Given the description of an element on the screen output the (x, y) to click on. 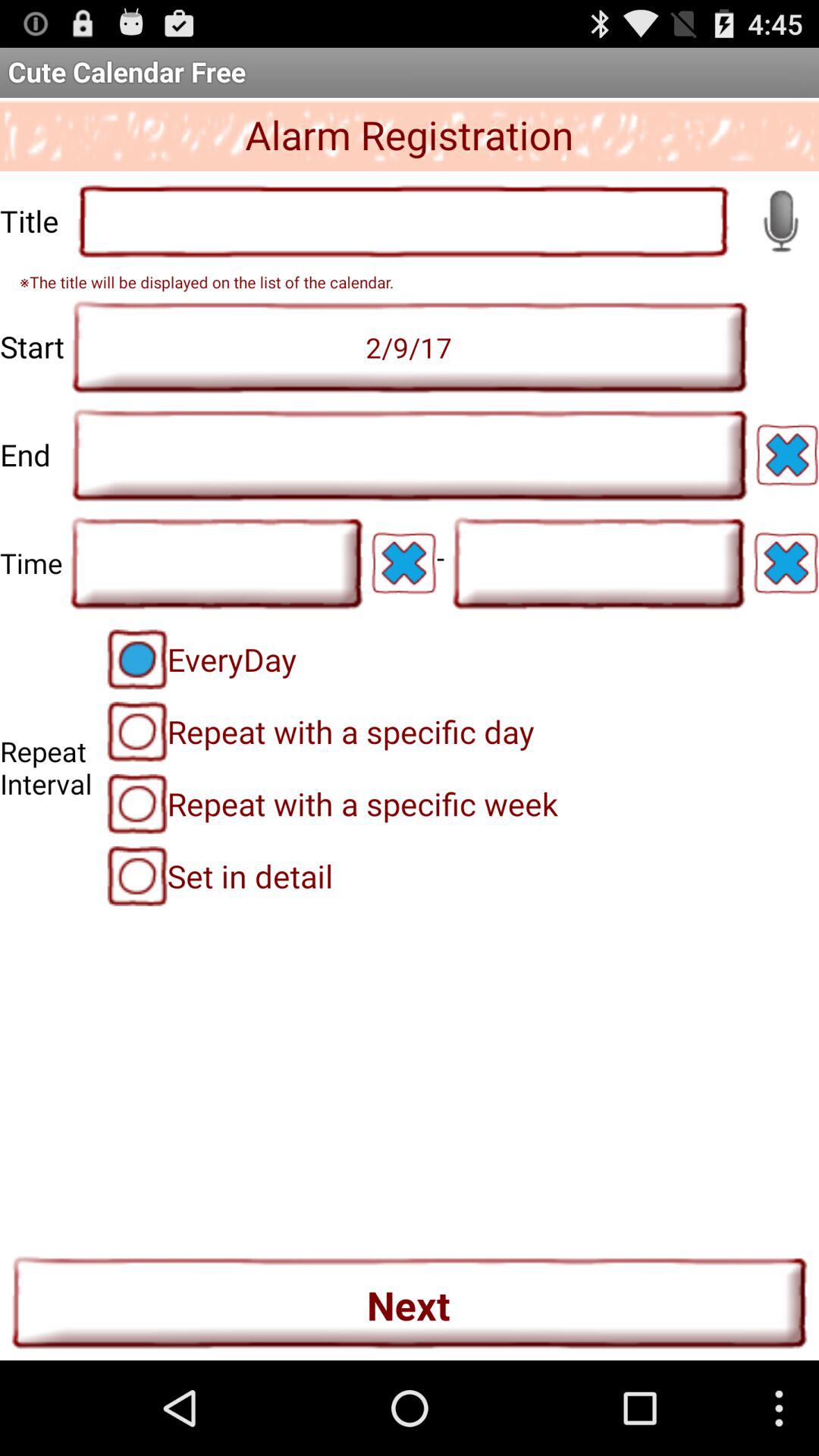
launch the icon below repeat with a item (220, 876)
